Given the description of an element on the screen output the (x, y) to click on. 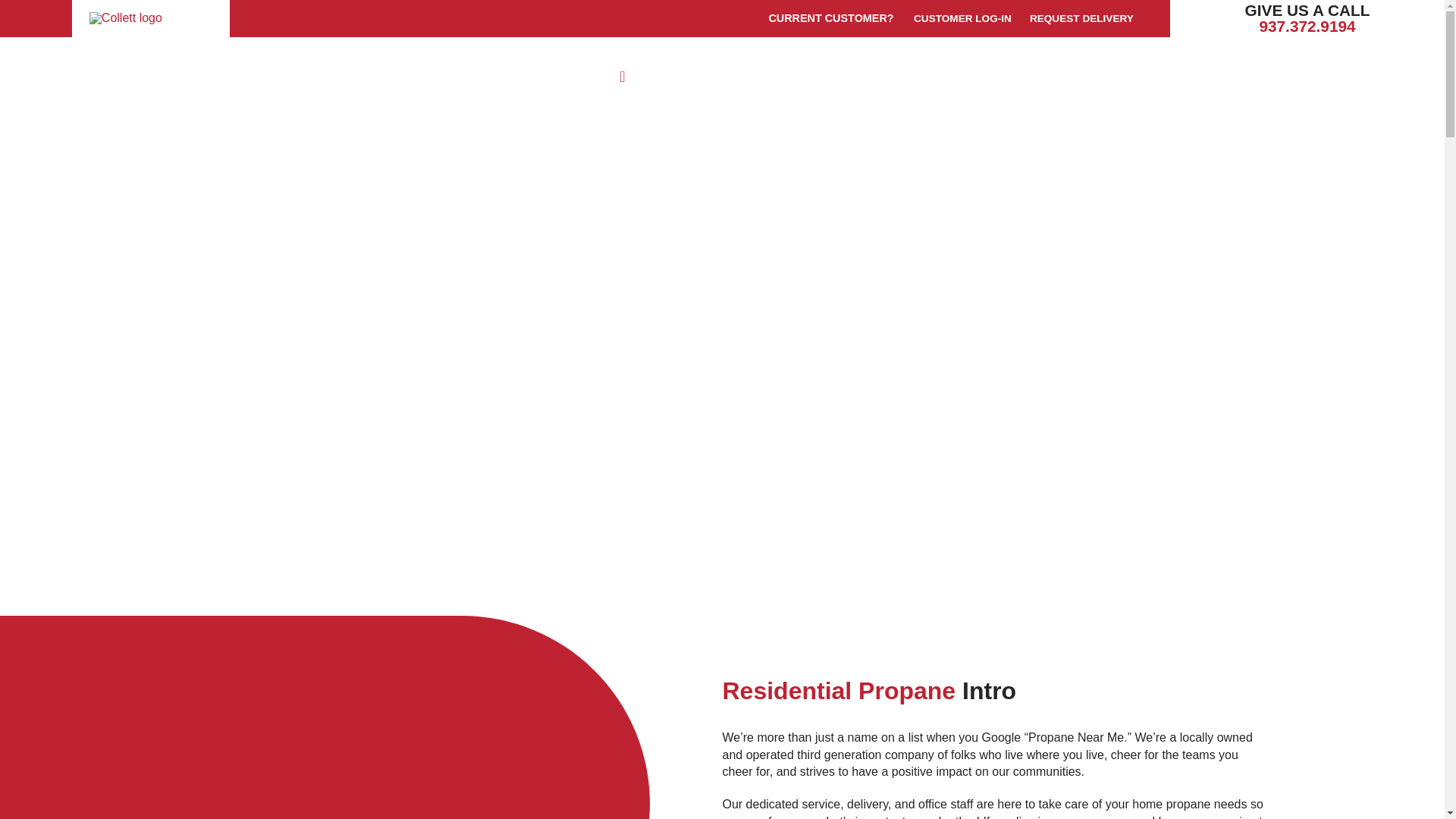
SIGN UP FOR SERVICE (1323, 84)
CONTACT US (1139, 76)
CUSTOMER LOG-IN (962, 18)
REQUEST DELIVERY (1081, 18)
GIVE US A CALL 937.372.9194 (1307, 18)
COLLETT AT A GLANCE (943, 76)
PROPANE SERVICES (710, 76)
